Given the description of an element on the screen output the (x, y) to click on. 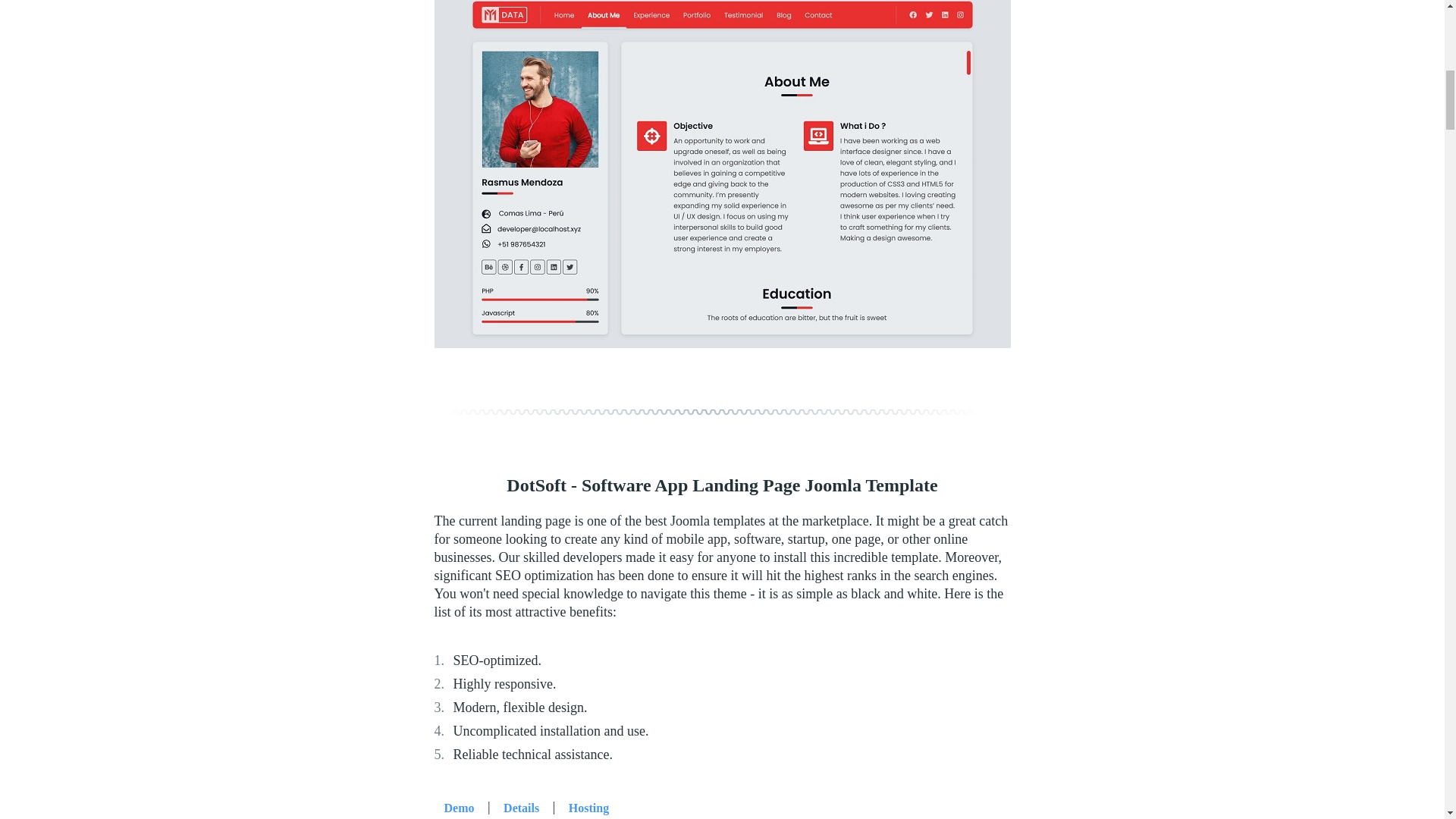
Details (520, 806)
Hosting (588, 806)
Demo (458, 806)
